Given the description of an element on the screen output the (x, y) to click on. 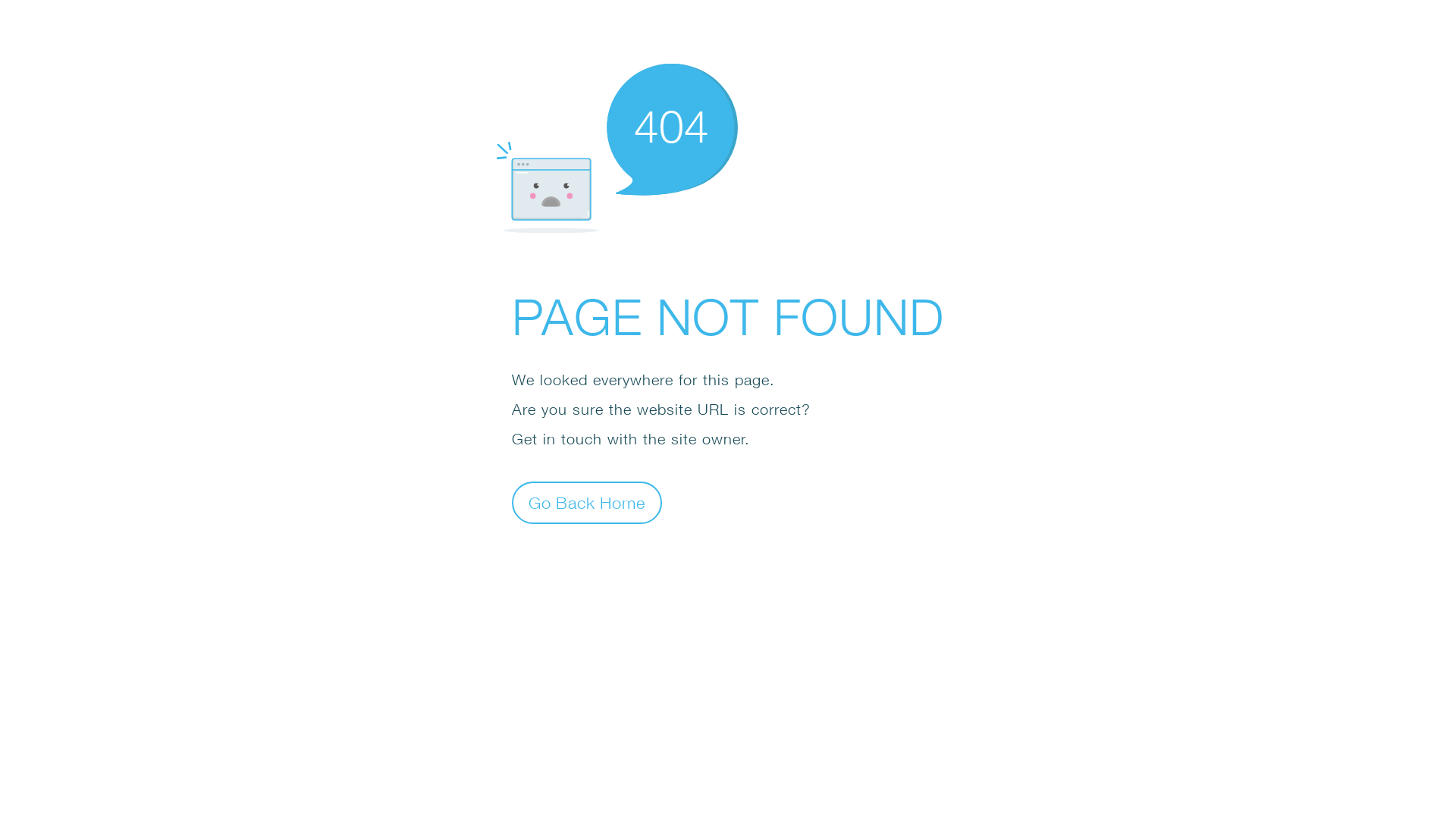
Go Back Home Element type: text (586, 502)
